Given the description of an element on the screen output the (x, y) to click on. 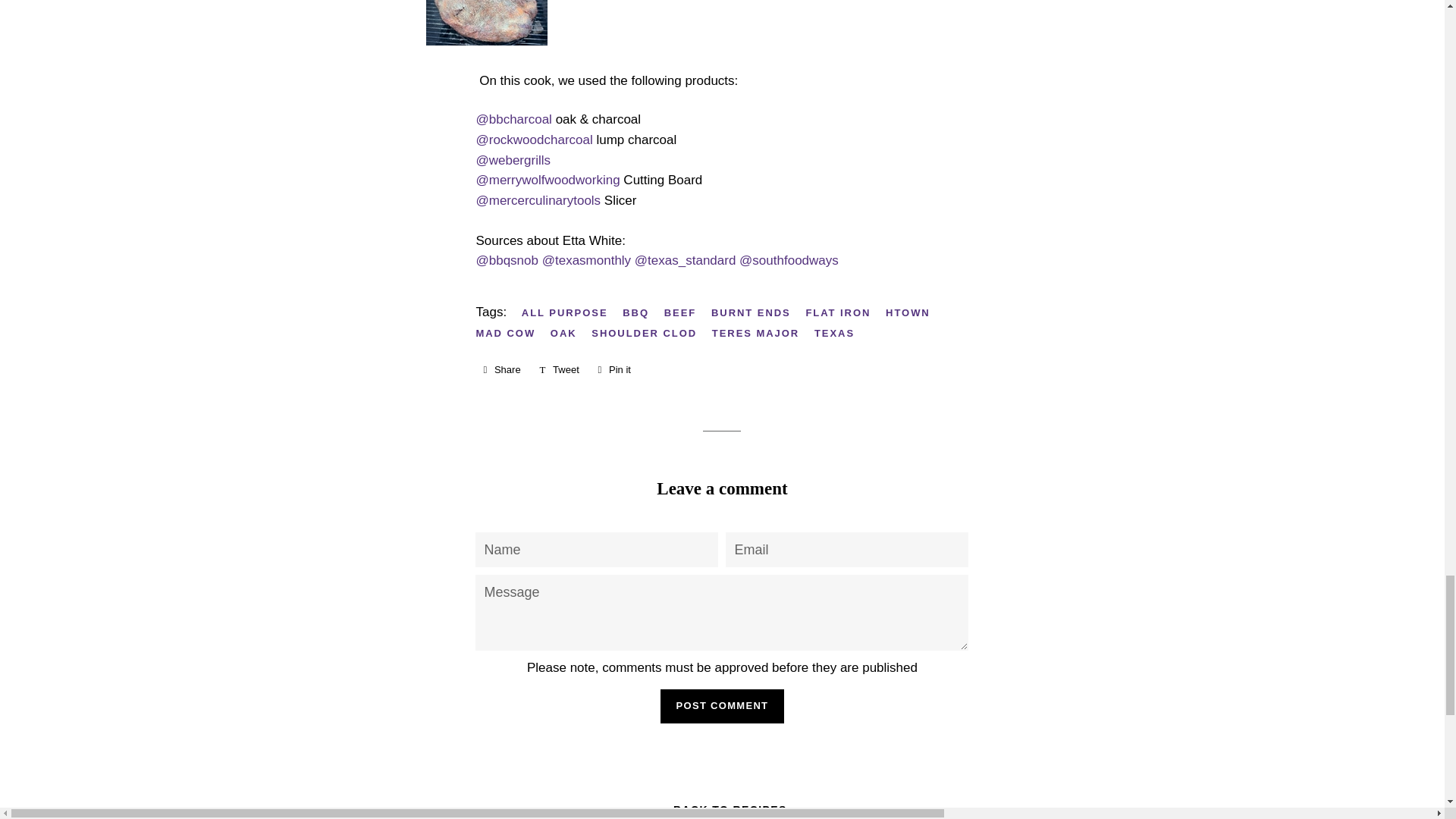
Post comment (722, 705)
Share on Facebook (501, 369)
Pin on Pinterest (613, 369)
Tweet on Twitter (558, 369)
